Given the description of an element on the screen output the (x, y) to click on. 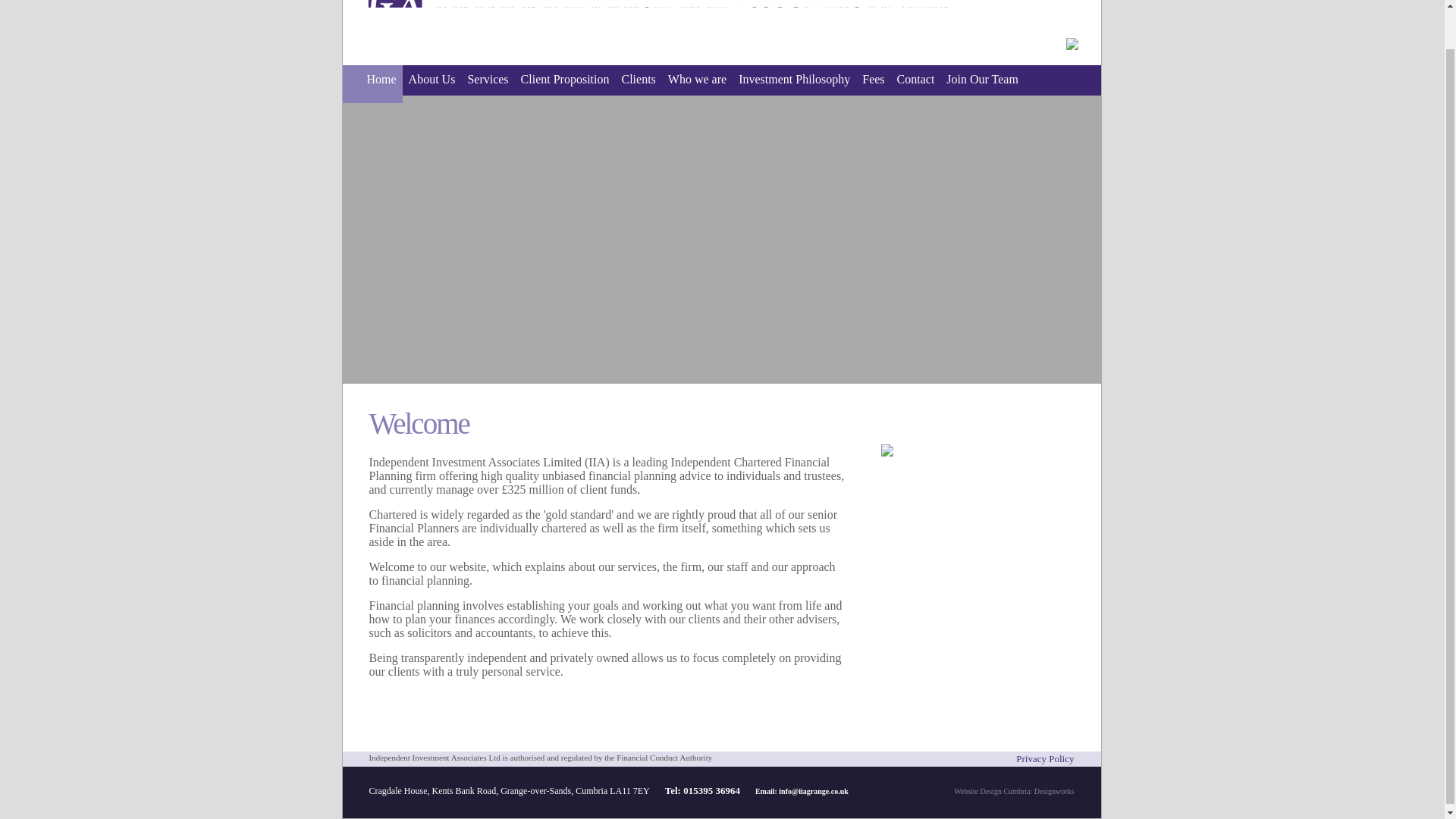
Privacy Policy (1045, 758)
Home (372, 84)
Contact (915, 84)
About Us (432, 84)
Clients (638, 84)
Fees (872, 84)
Services (487, 84)
Website Design Cumbria: (993, 791)
Who we are (697, 84)
Client Proposition (565, 84)
Join Our Team (983, 84)
Investment Philosophy (794, 84)
